Given the description of an element on the screen output the (x, y) to click on. 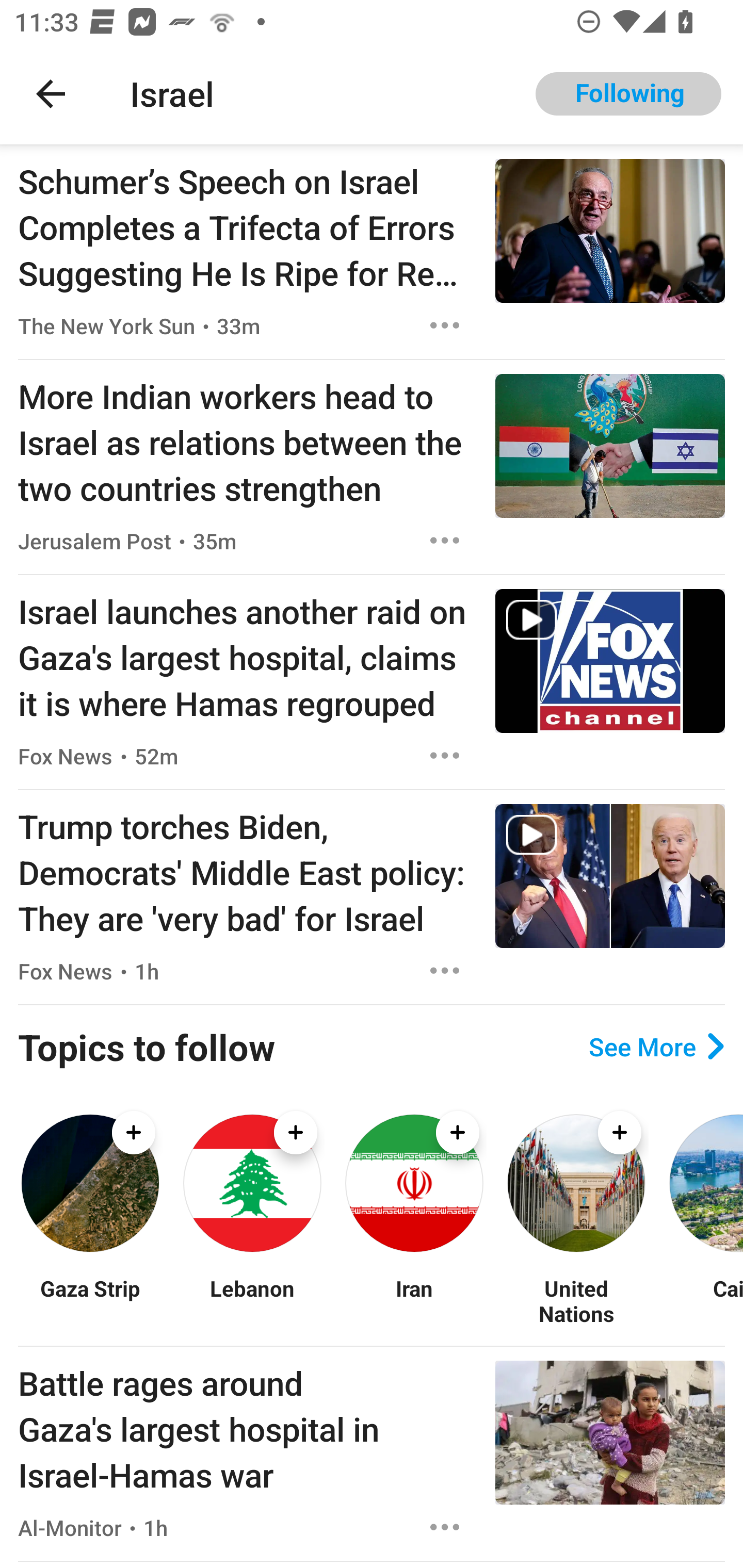
Navigate up (50, 93)
Following (628, 94)
Options (444, 325)
Options (444, 540)
Options (444, 755)
Options (444, 970)
See More (656, 1046)
Gaza Strip (89, 1300)
Lebanon (251, 1300)
Iran (413, 1300)
United Nations (575, 1300)
Options (444, 1527)
